Given the description of an element on the screen output the (x, y) to click on. 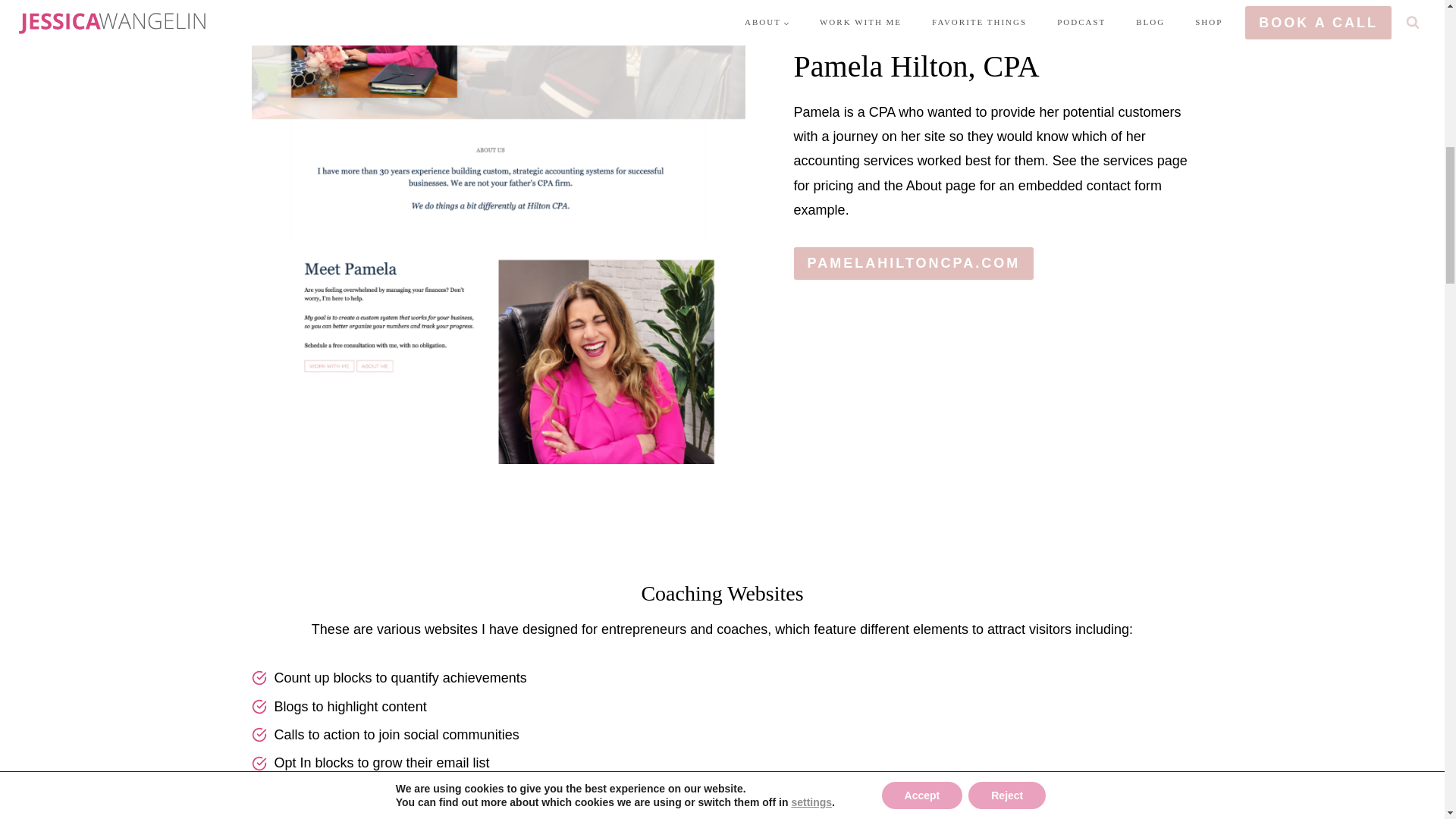
PAMELAHILTONCPA.COM (913, 263)
